Given the description of an element on the screen output the (x, y) to click on. 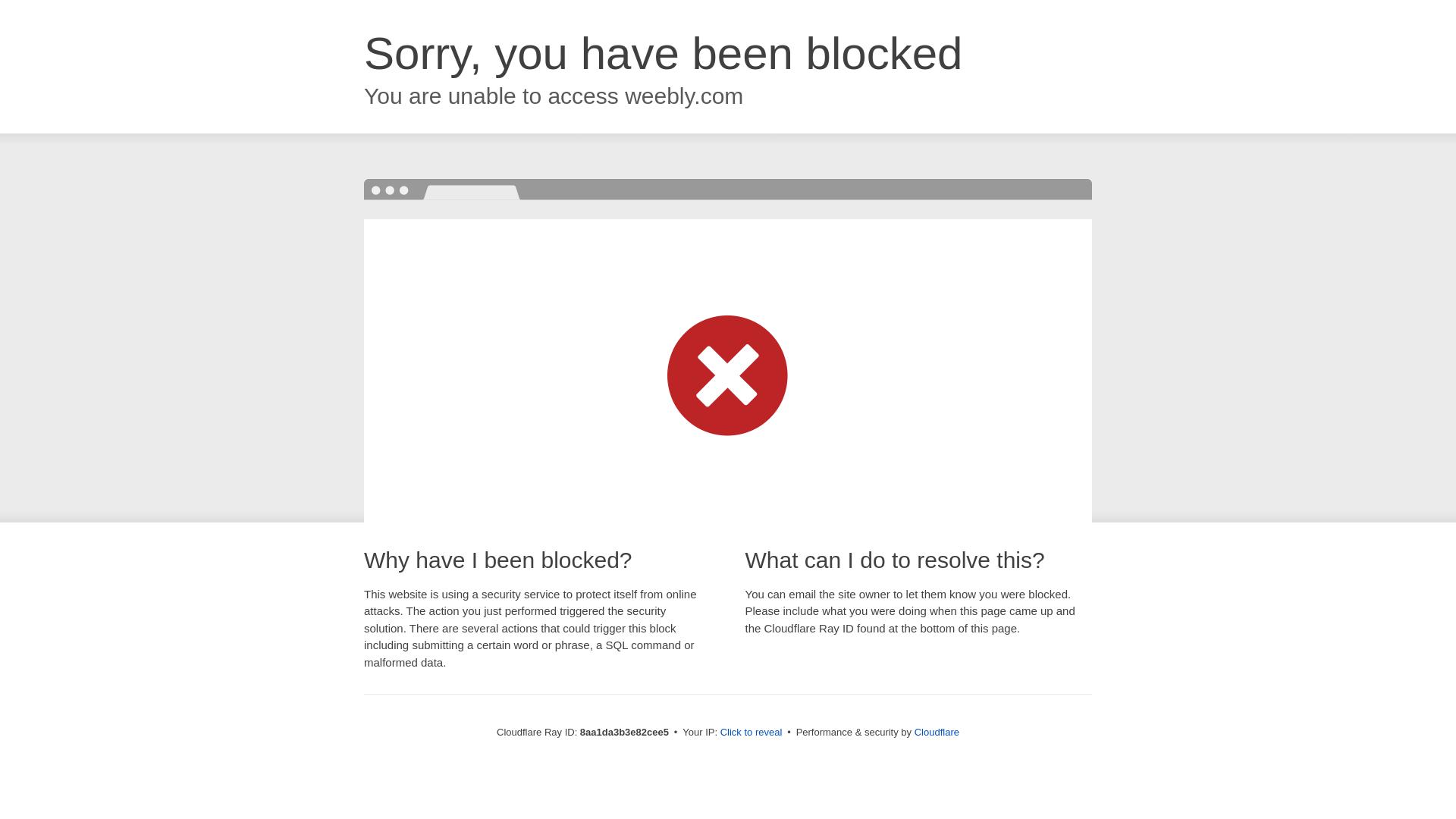
Click to reveal (751, 732)
Cloudflare (936, 731)
